Given the description of an element on the screen output the (x, y) to click on. 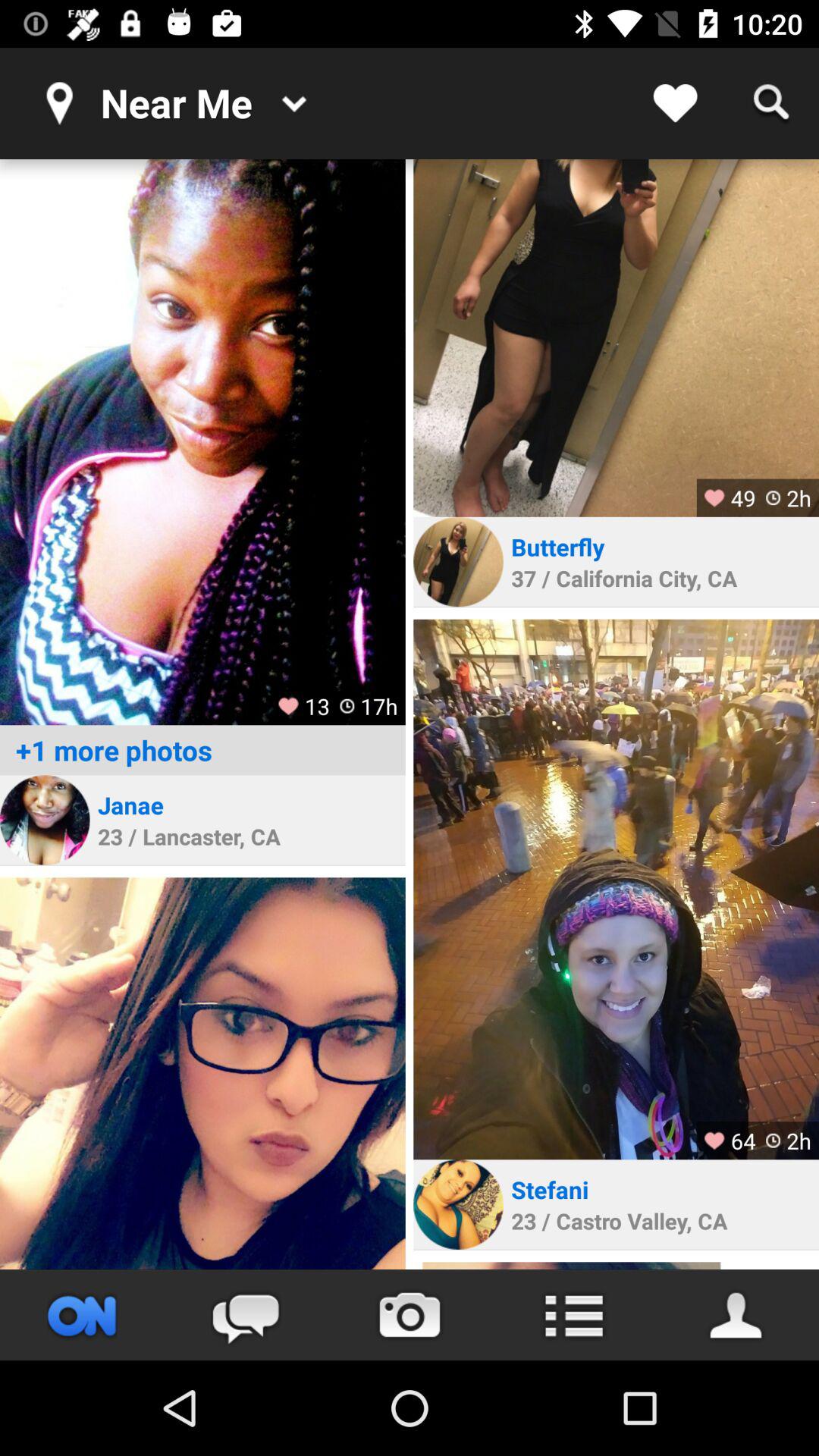
access messaging (245, 1315)
